Given the description of an element on the screen output the (x, y) to click on. 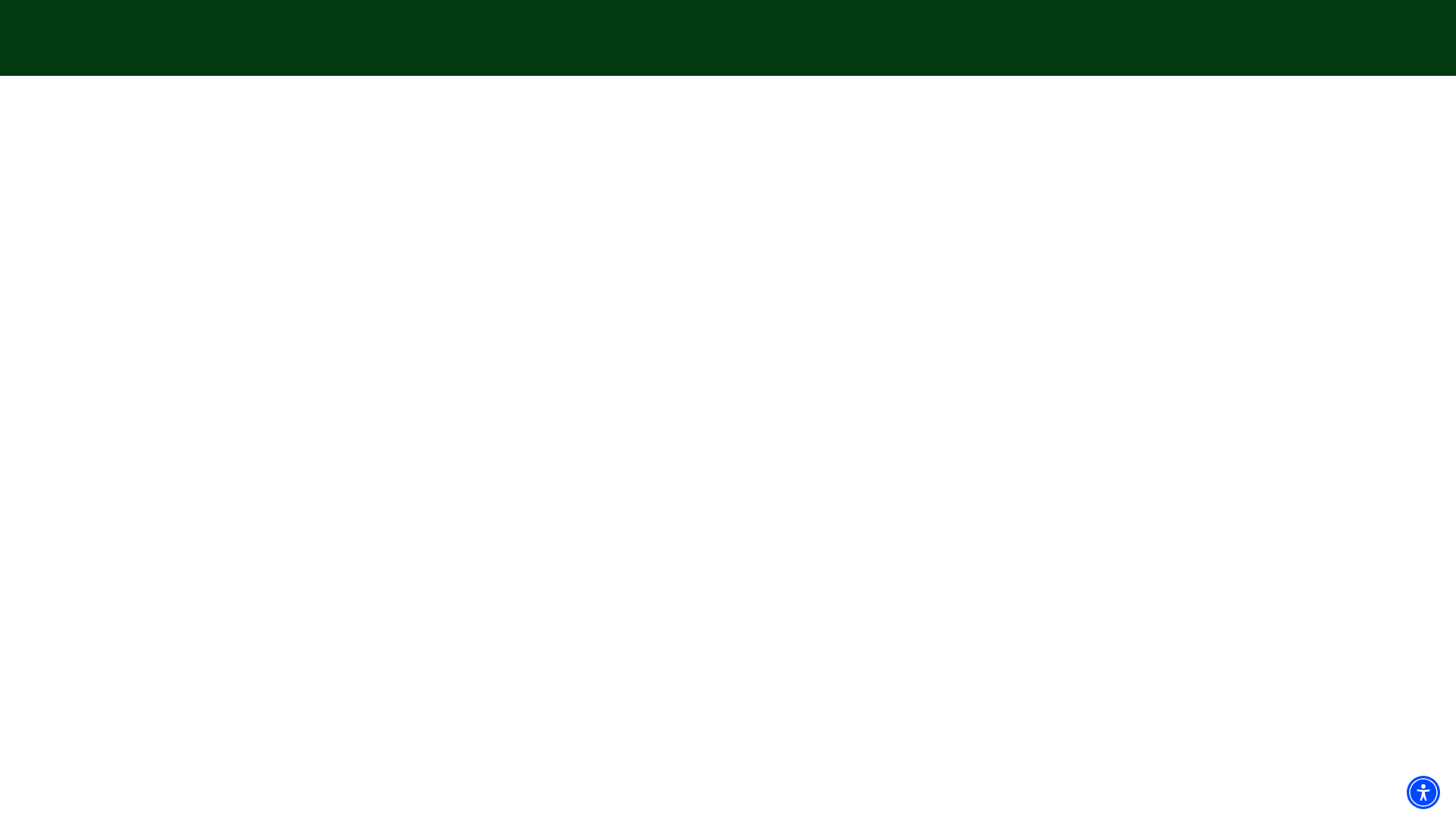
Accessibility Menu (1422, 792)
